Given the description of an element on the screen output the (x, y) to click on. 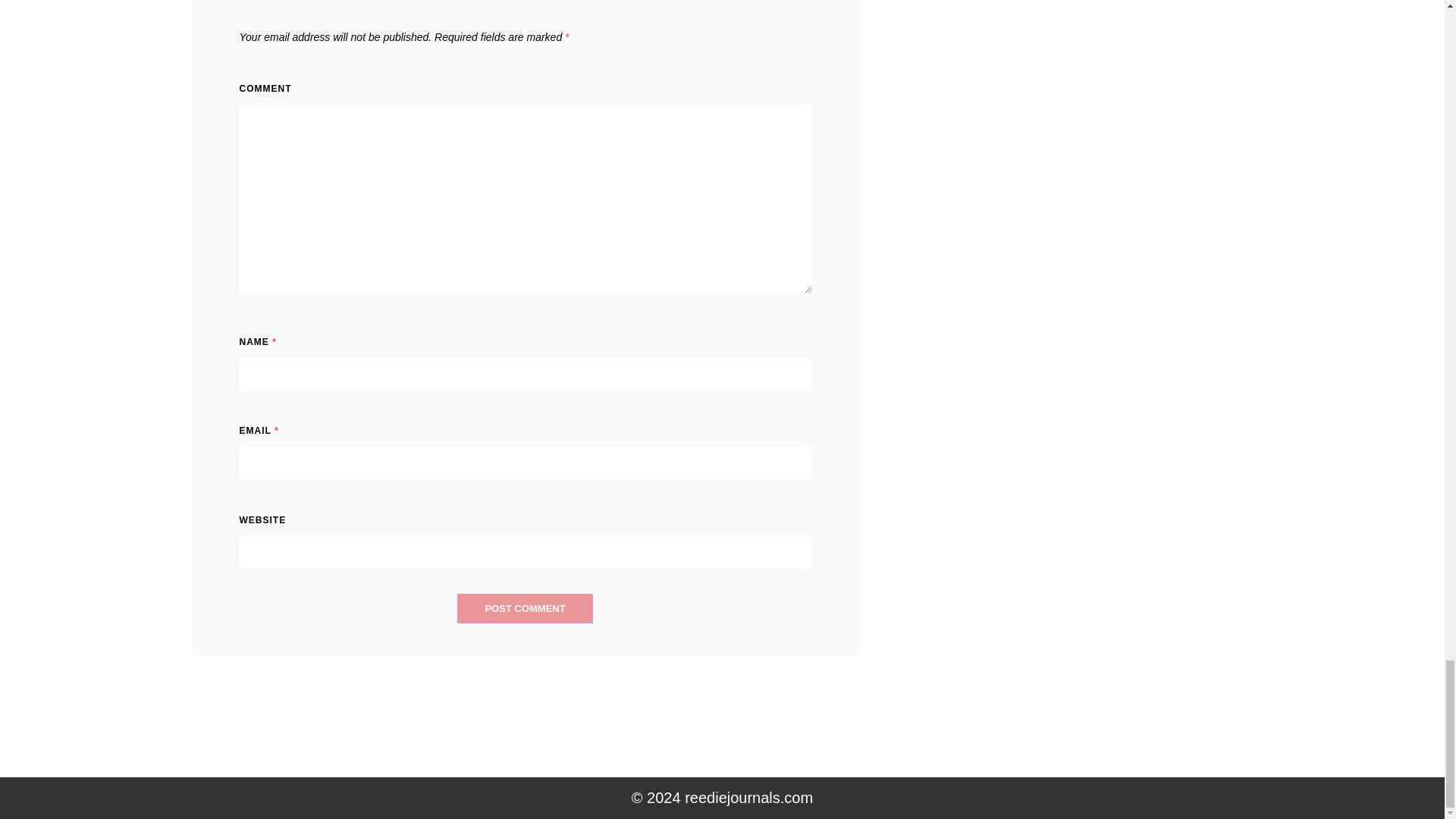
Post Comment (524, 608)
Post Comment (524, 608)
